Given the description of an element on the screen output the (x, y) to click on. 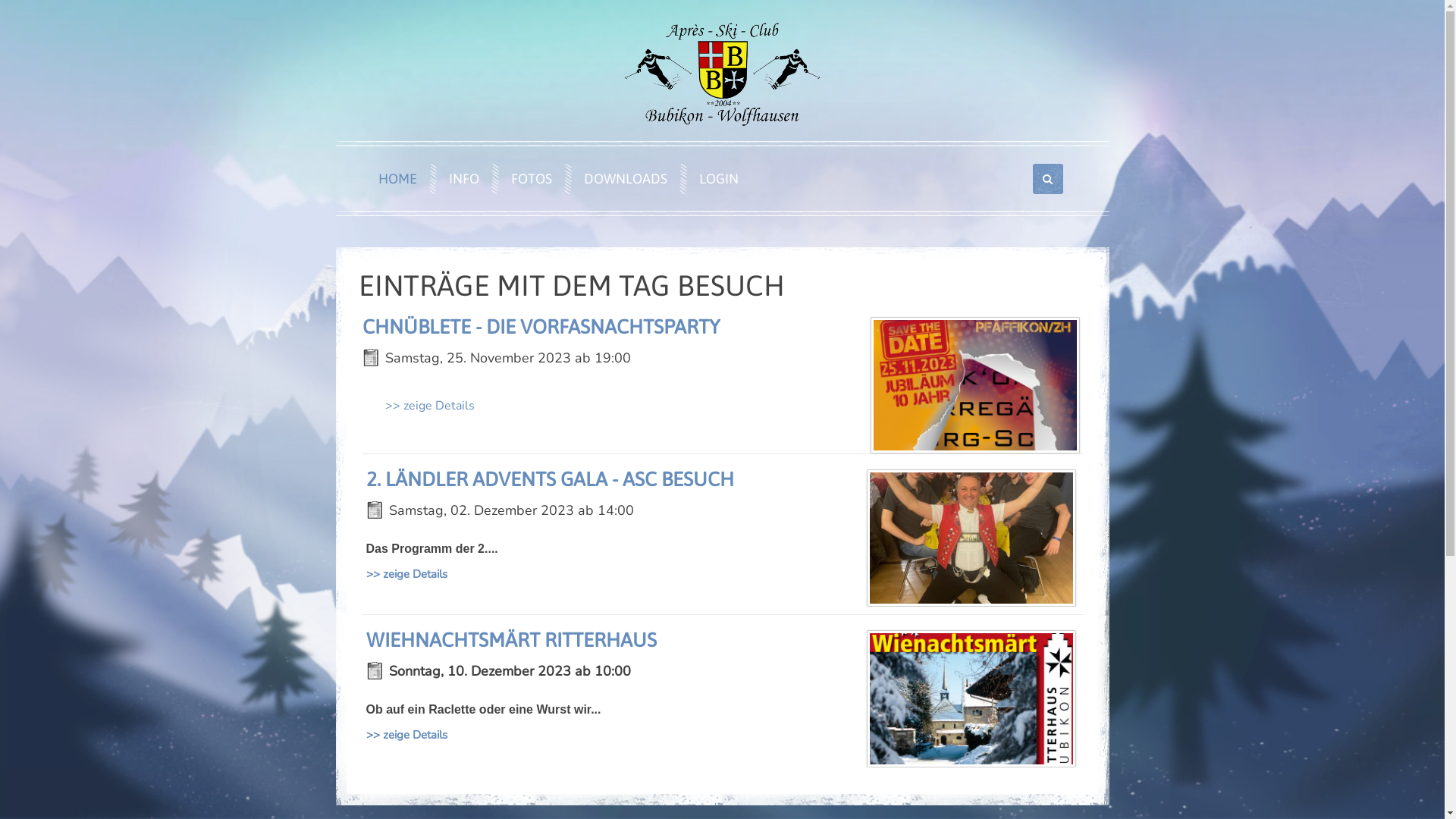
INFO Element type: text (460, 178)
LOGIN Element type: text (714, 178)
>> zeige Details Element type: text (405, 734)
HOME Element type: text (392, 178)
DOWNLOADS Element type: text (621, 178)
>> zeige Details Element type: text (405, 573)
FOTOS Element type: text (527, 178)
>> zeige Details Element type: text (429, 405)
